Given the description of an element on the screen output the (x, y) to click on. 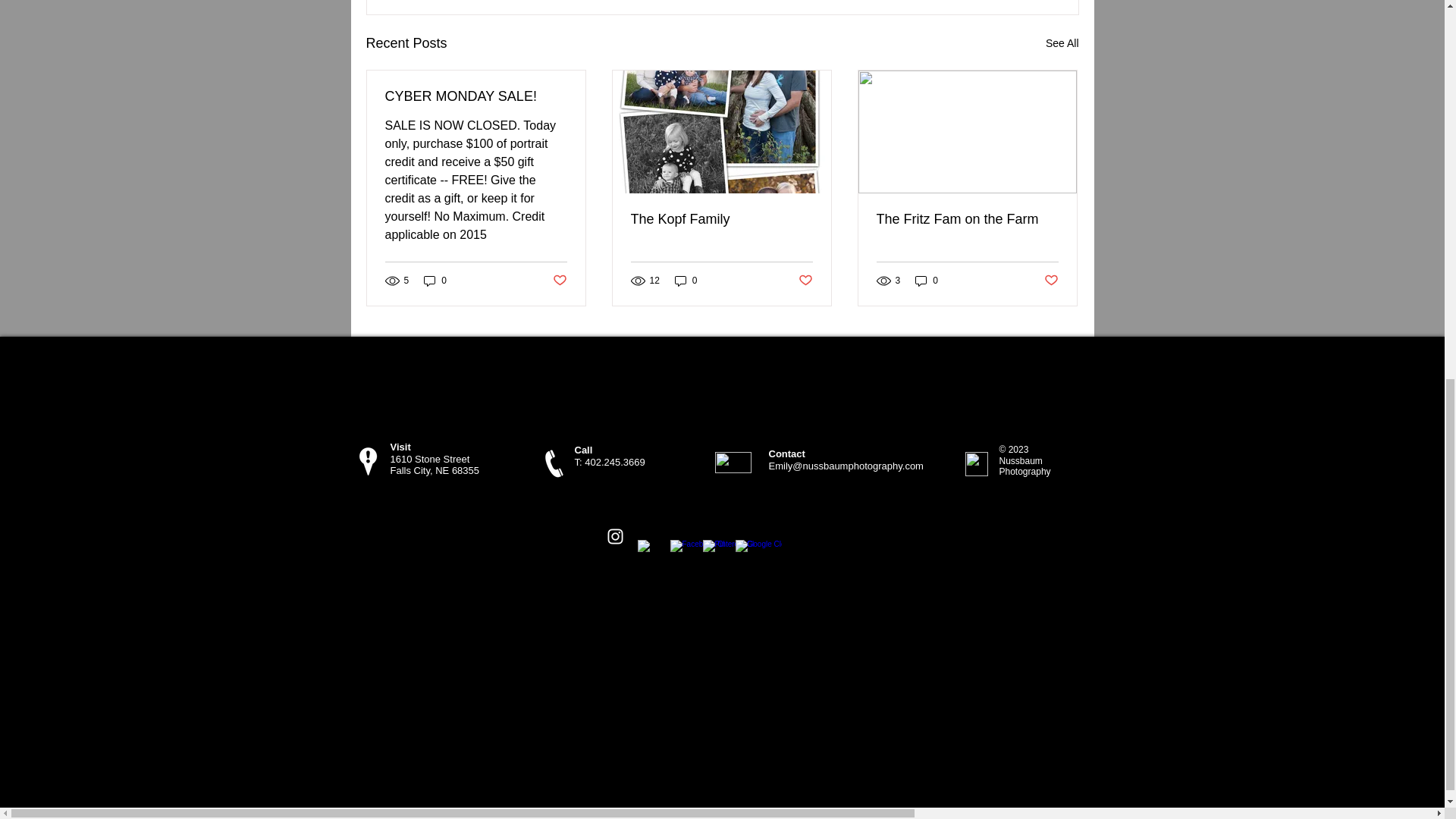
Post not marked as liked (1050, 279)
CYBER MONDAY SALE! (476, 96)
0 (435, 280)
The Fritz Fam on the Farm (967, 219)
0 (926, 280)
The Kopf Family (721, 219)
0 (685, 280)
Post not marked as liked (804, 279)
Post not marked as liked (558, 279)
See All (1061, 43)
